Given the description of an element on the screen output the (x, y) to click on. 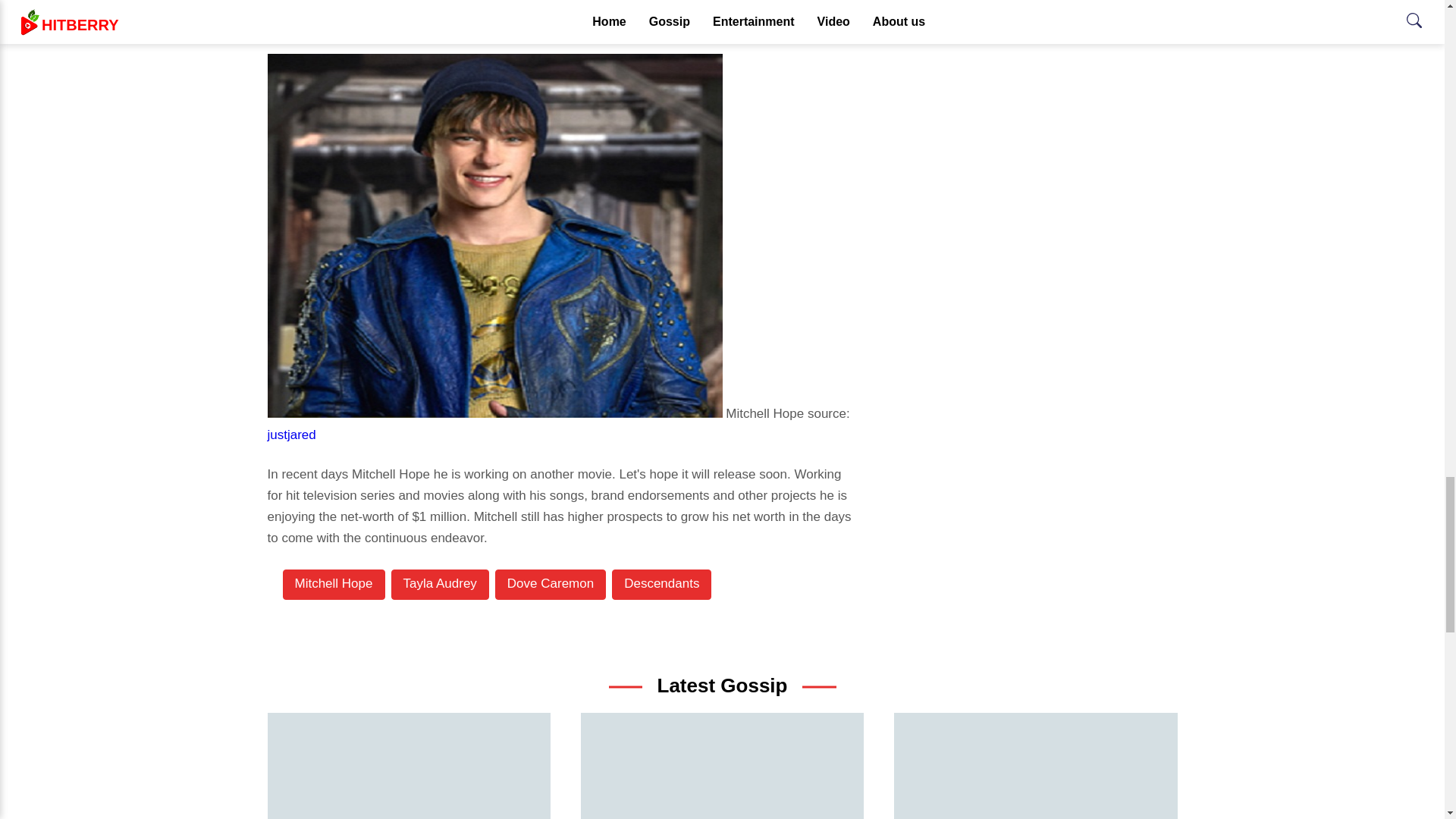
justjared (290, 434)
Descendants (661, 583)
Mitchell Hope (333, 583)
Tayla Audrey (440, 583)
Dove Caremon (550, 583)
